Given the description of an element on the screen output the (x, y) to click on. 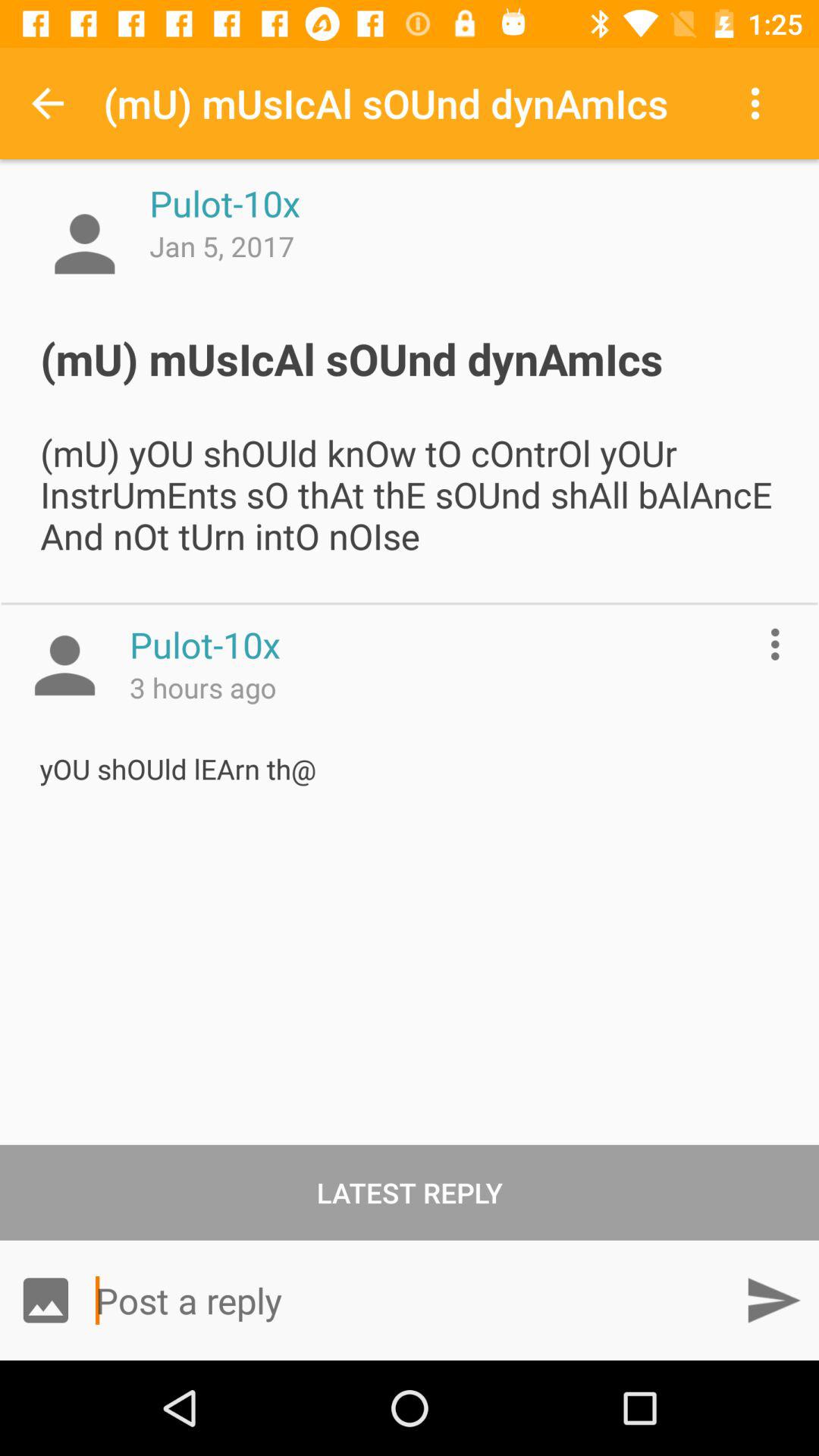
tap item below you should learn (409, 1192)
